Given the description of an element on the screen output the (x, y) to click on. 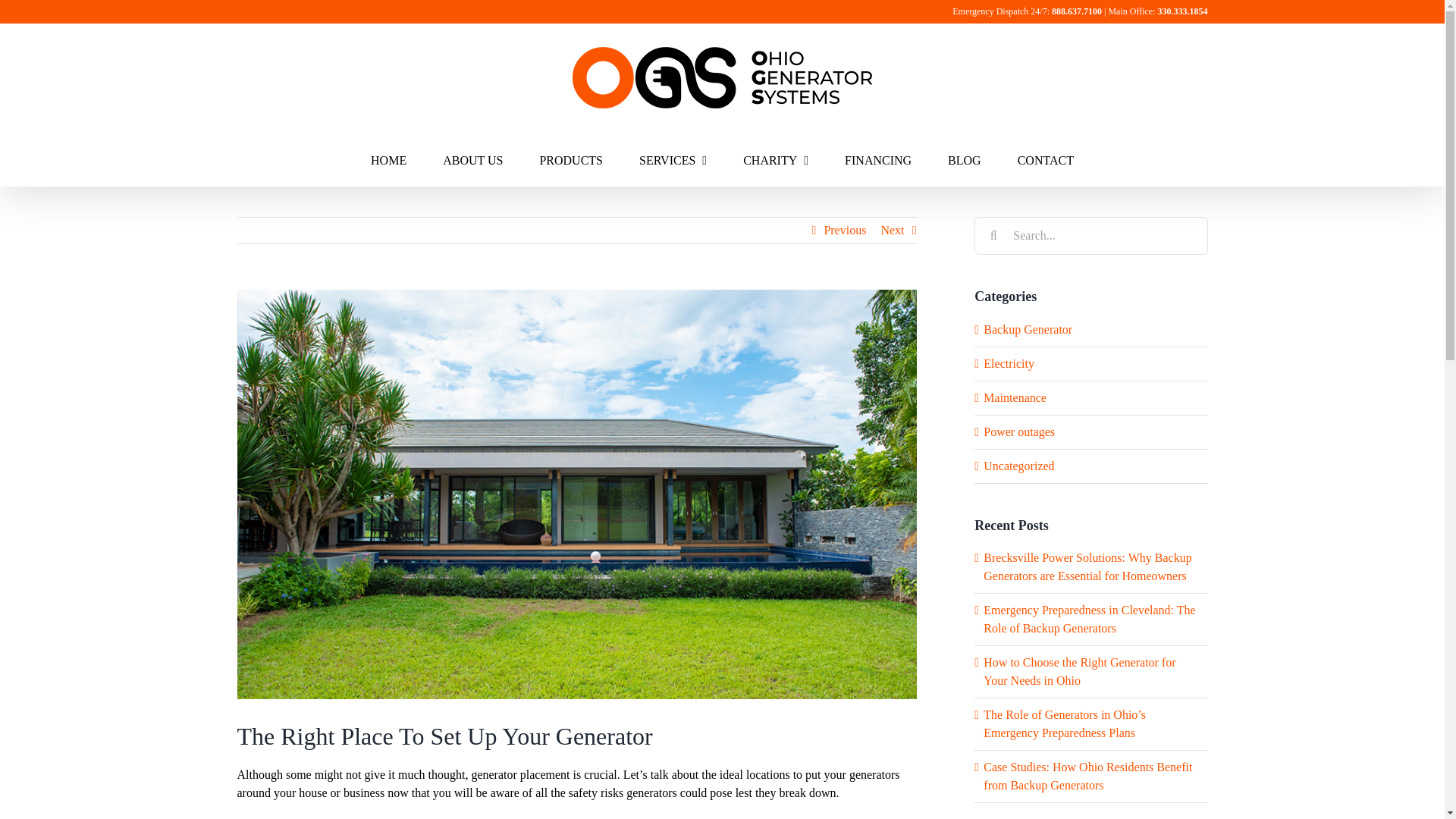
PRODUCTS (570, 158)
ABOUT US (472, 158)
330.333.1854 (1182, 10)
Previous (845, 230)
888.637.7100 (1076, 10)
SERVICES (672, 158)
CHARITY (775, 158)
Next (892, 230)
CONTACT (1045, 158)
